Given the description of an element on the screen output the (x, y) to click on. 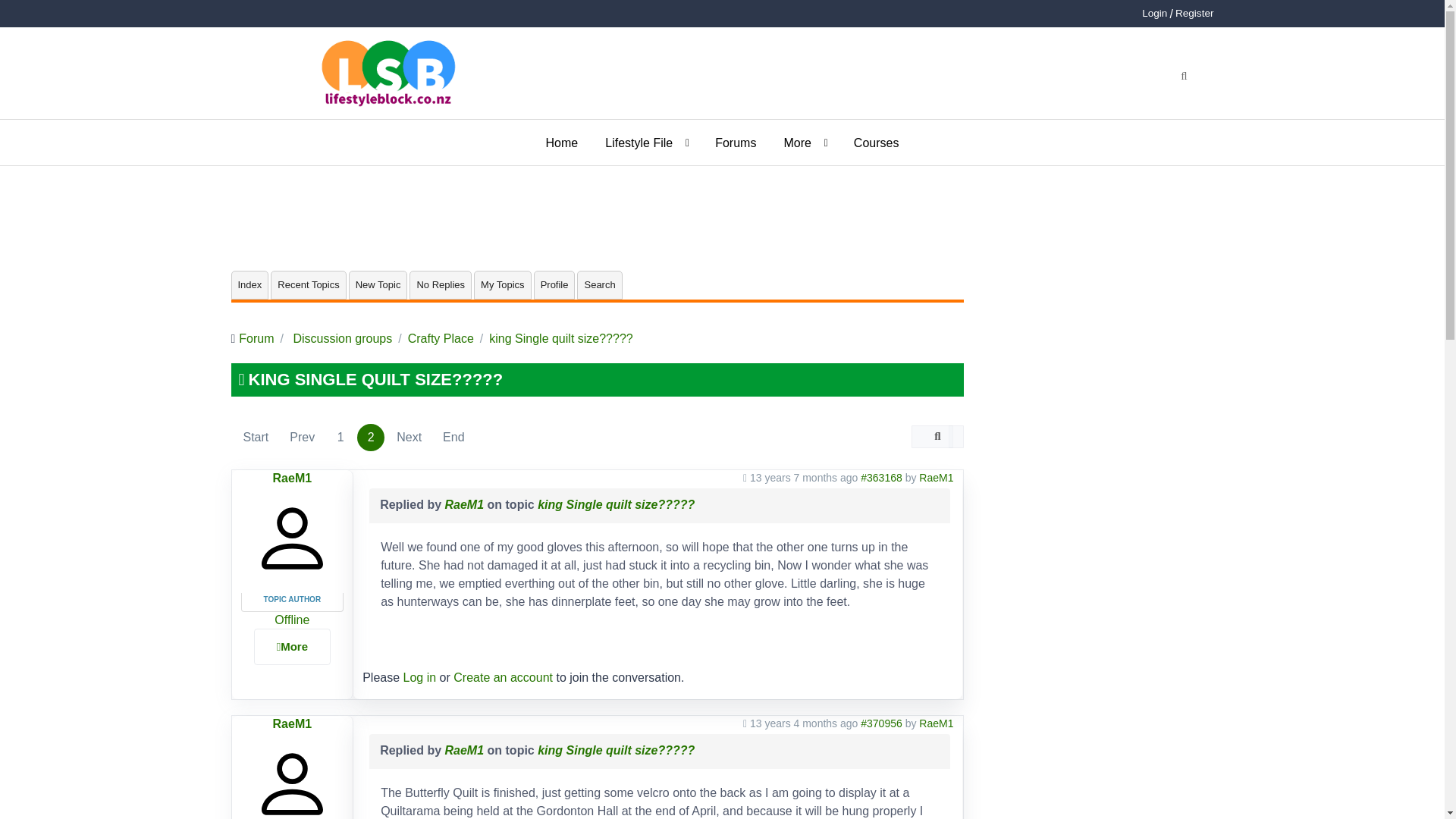
2 (370, 436)
View RaeM1's Profile (293, 477)
Next (408, 436)
Page:1 (339, 436)
View RaeM1's Profile (293, 723)
Lifestyle File (646, 142)
View RaeM1's Profile (935, 477)
Page:Start (255, 436)
Recent Topics (308, 285)
